Given the description of an element on the screen output the (x, y) to click on. 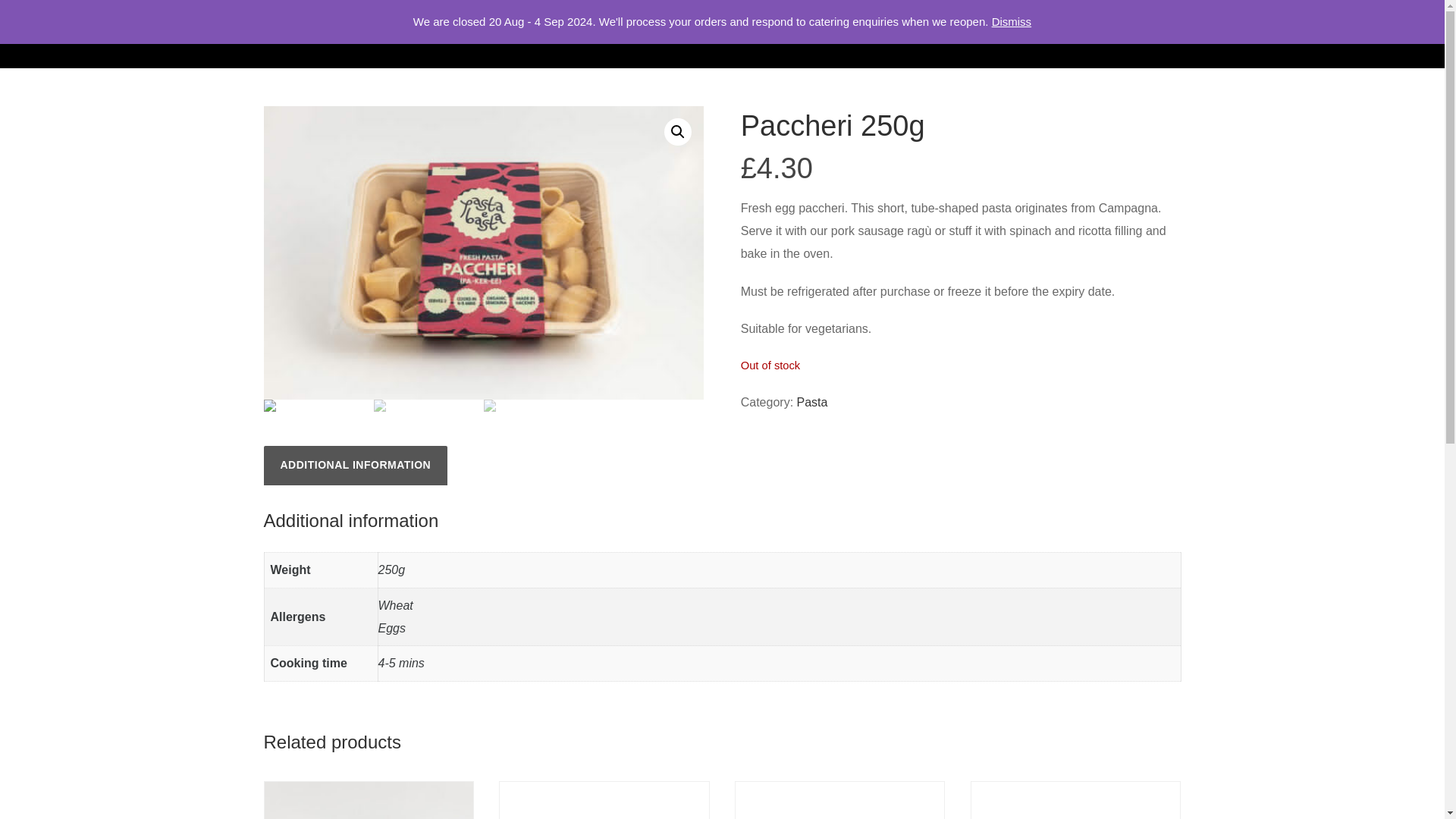
Catering (909, 33)
Pasta (812, 401)
ADDITIONAL INFORMATION (355, 465)
Contact (1031, 33)
PastaeBastaWEB-0030 (483, 252)
